Given the description of an element on the screen output the (x, y) to click on. 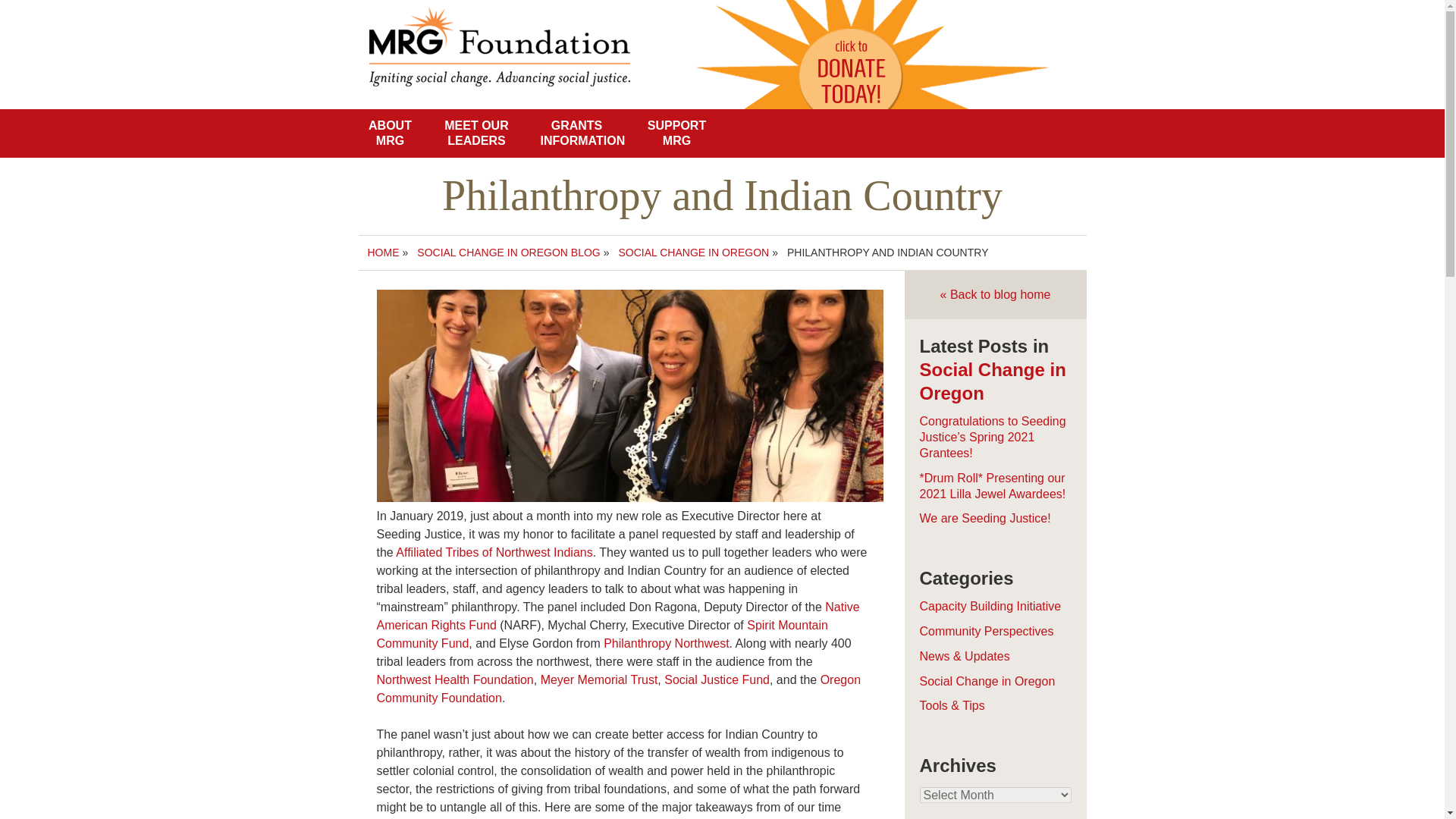
MRG Foundation (519, 26)
SOCIAL CHANGE IN OREGON BLOG (507, 252)
GRANTS INFORMATION (576, 133)
HOME (382, 252)
Spirit Mountain Community Fund (601, 634)
ABOUT MRG (390, 133)
Go to MRG Foundation. (382, 252)
Oregon Community Foundation (617, 688)
SOCIAL CHANGE IN OREGON (694, 252)
MEET OUR LEADERS (475, 133)
Affiliated Tribes of Northwest Indians (494, 552)
Go to the Social Change in Oregon category archives. (694, 252)
Social Justice Fund (716, 679)
Go to Social Change in Oregon Blog. (507, 252)
Meyer Memorial Trust (599, 679)
